Given the description of an element on the screen output the (x, y) to click on. 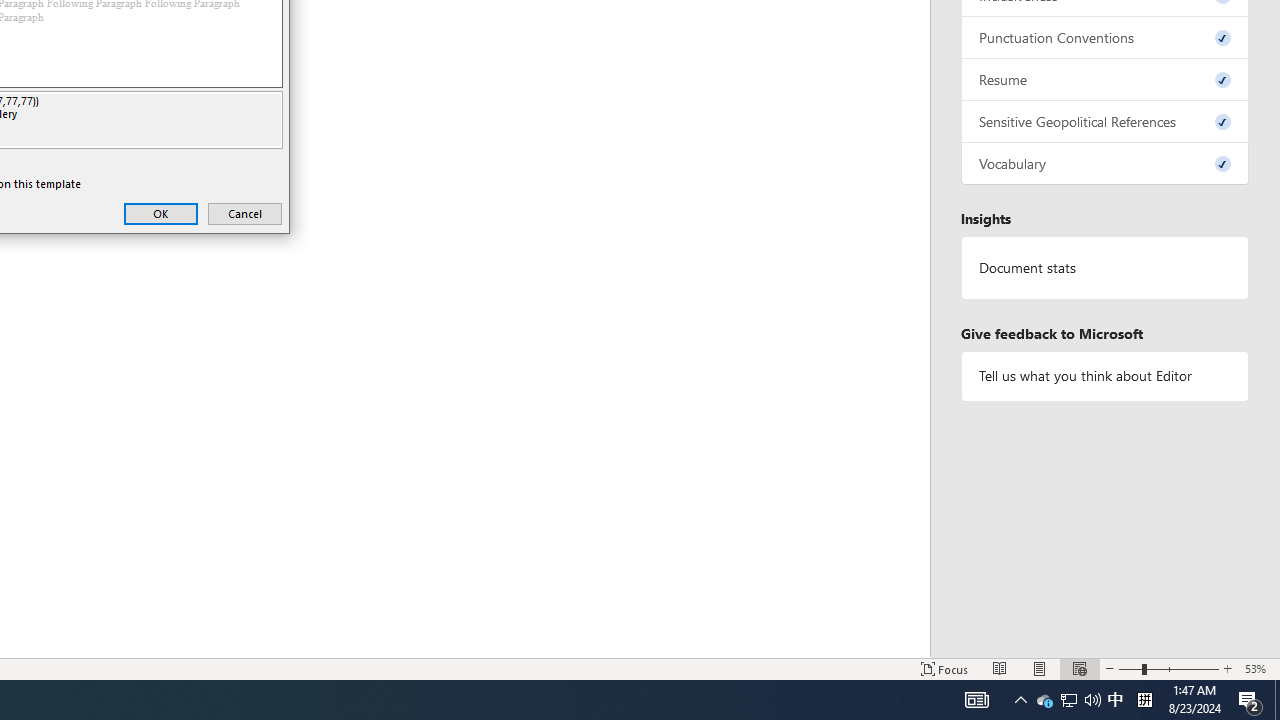
OK (160, 214)
Document statistics (1044, 699)
Vocabulary, 0 issues. Press space or enter to review items. (1105, 267)
Q2790: 100% (1105, 163)
Cancel (1092, 699)
Notification Chevron (244, 214)
AutomationID: 4105 (1020, 699)
Show desktop (976, 699)
Tell us what you think about Editor (1277, 699)
Action Center, 2 new notifications (1105, 376)
